Given the description of an element on the screen output the (x, y) to click on. 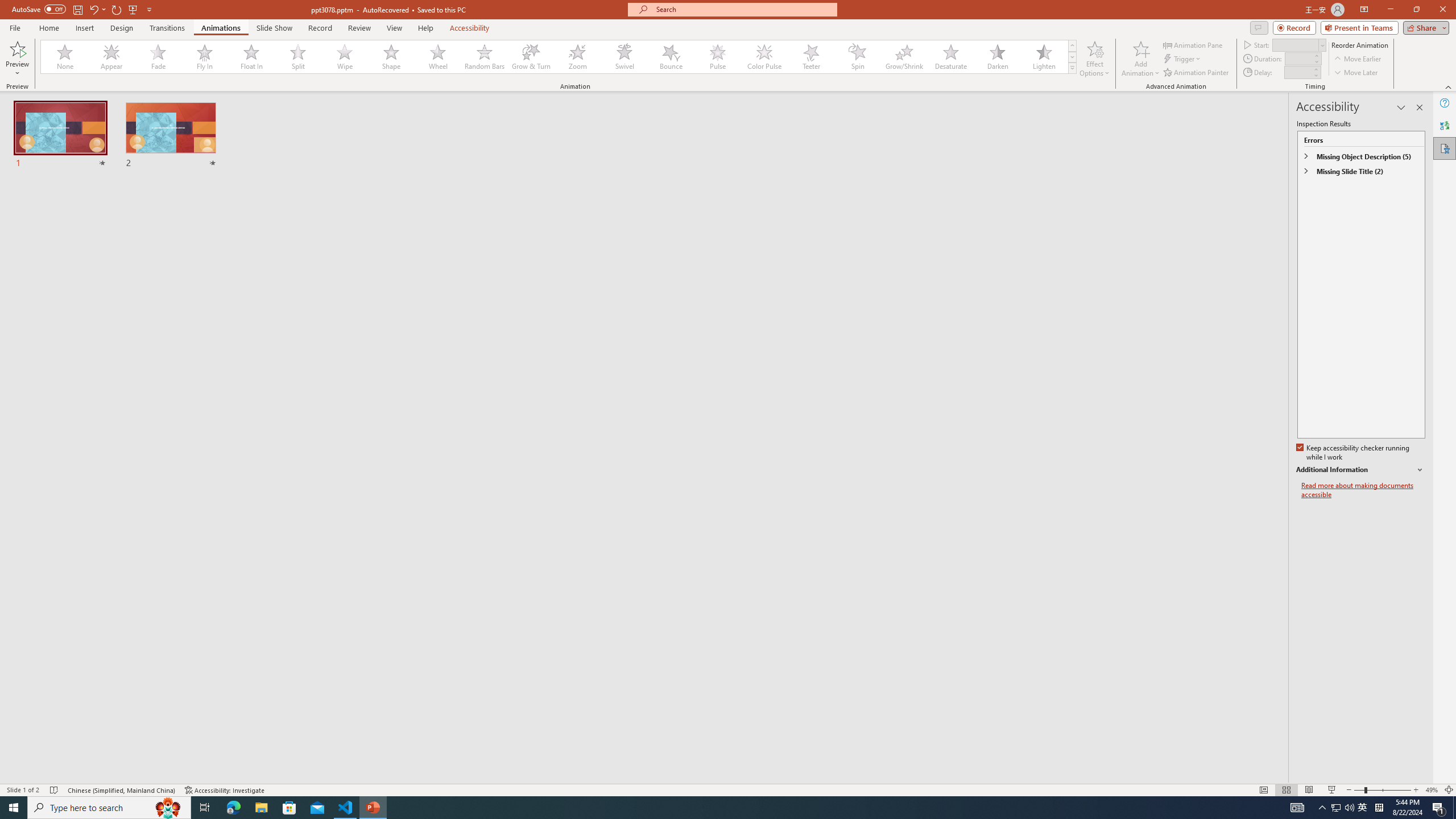
Swivel (624, 56)
Animation Painter (1196, 72)
Move Earlier (1357, 58)
